Given the description of an element on the screen output the (x, y) to click on. 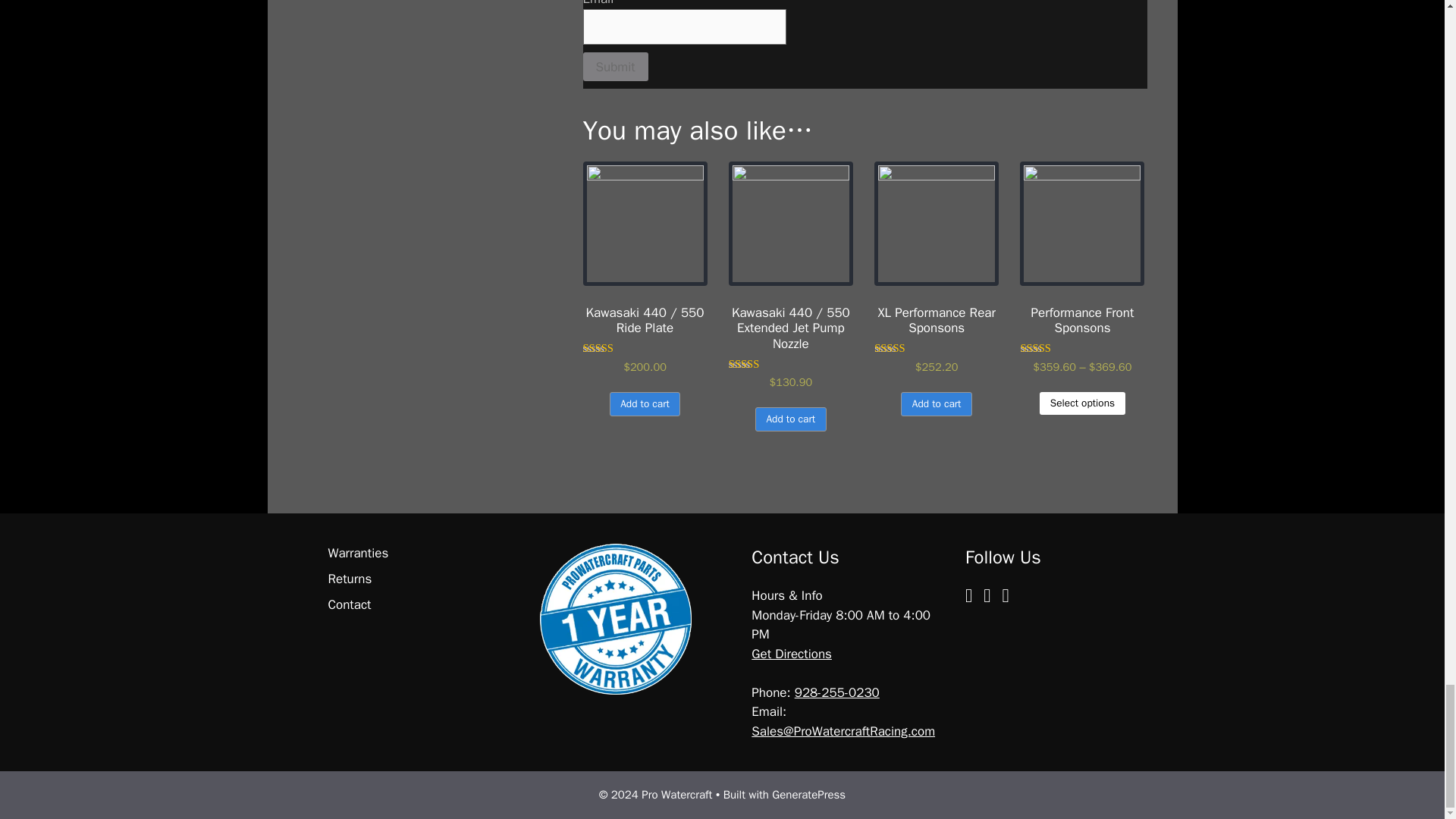
Submit (614, 66)
